Given the description of an element on the screen output the (x, y) to click on. 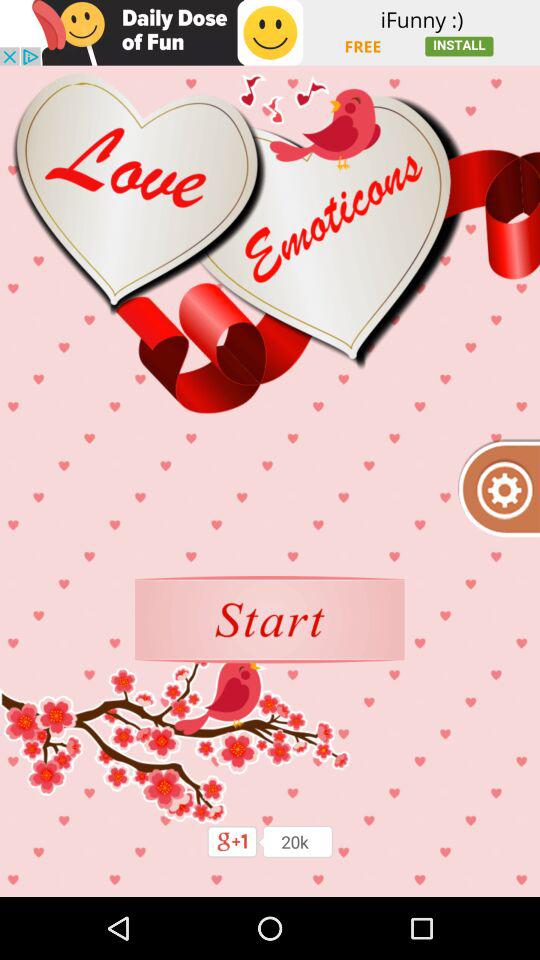
start (269, 619)
